Given the description of an element on the screen output the (x, y) to click on. 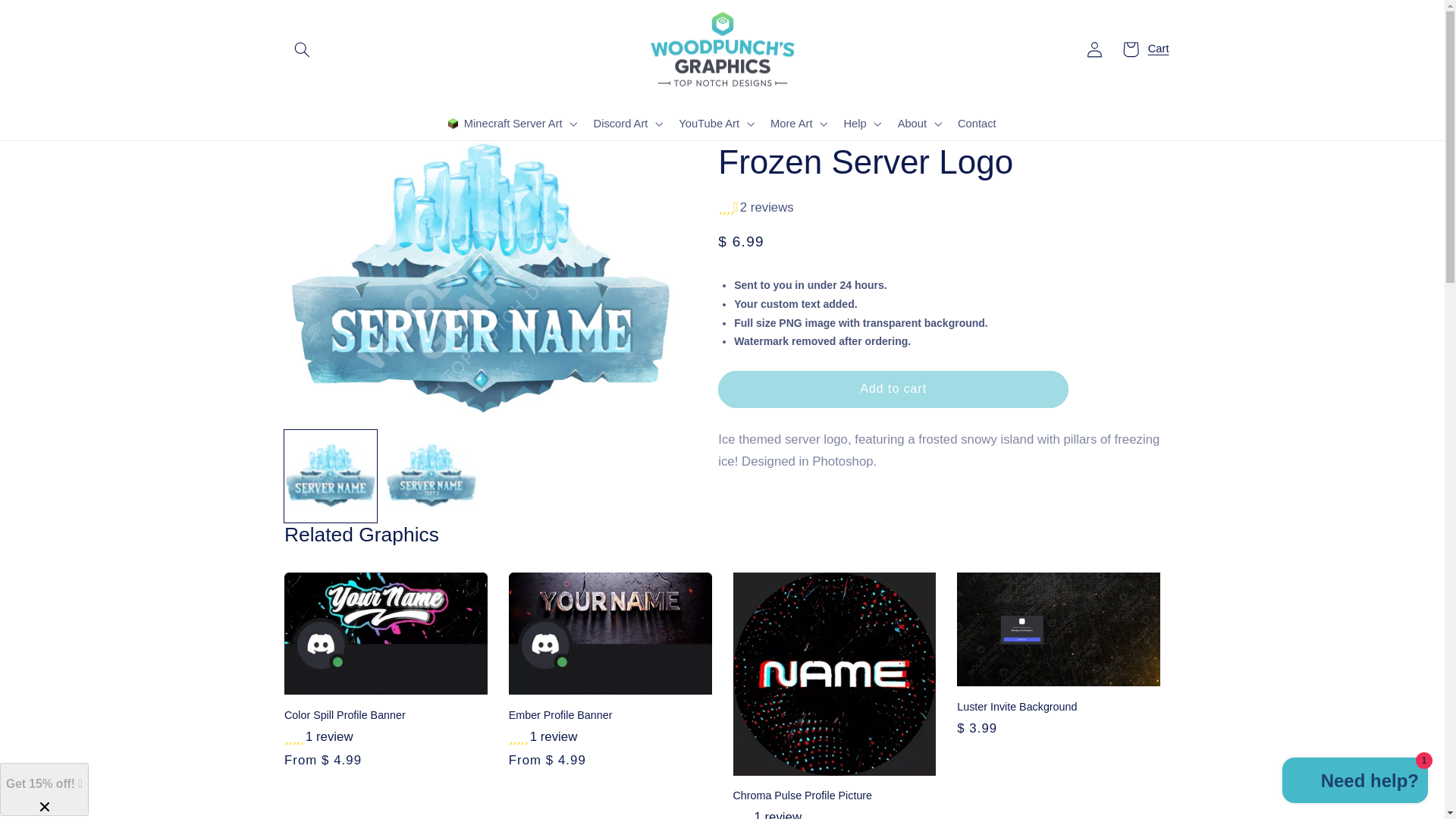
Shopify online store chat (1355, 781)
Skip to content (48, 18)
